Given the description of an element on the screen output the (x, y) to click on. 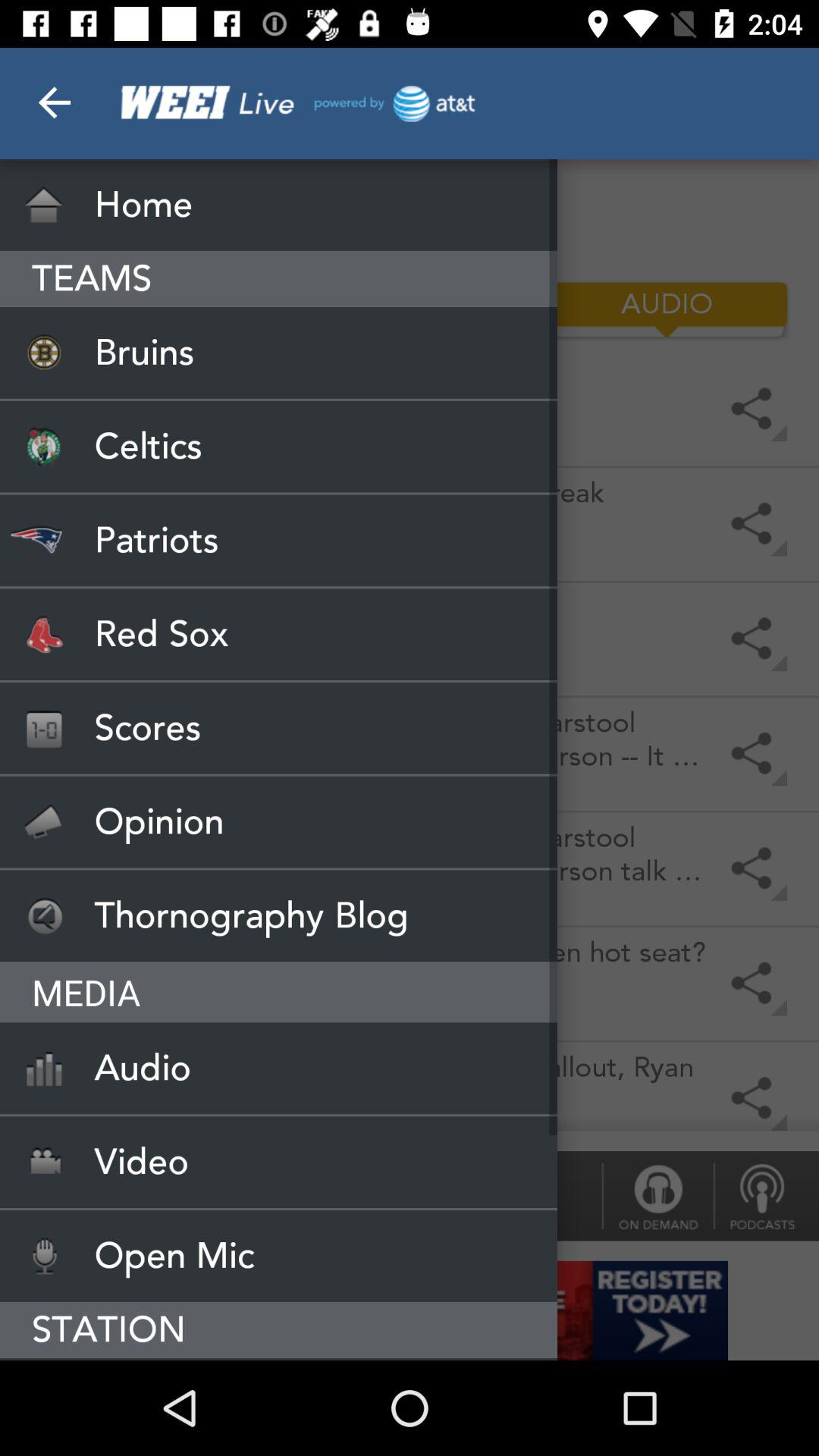
turn on the red sox icon (278, 634)
